Given the description of an element on the screen output the (x, y) to click on. 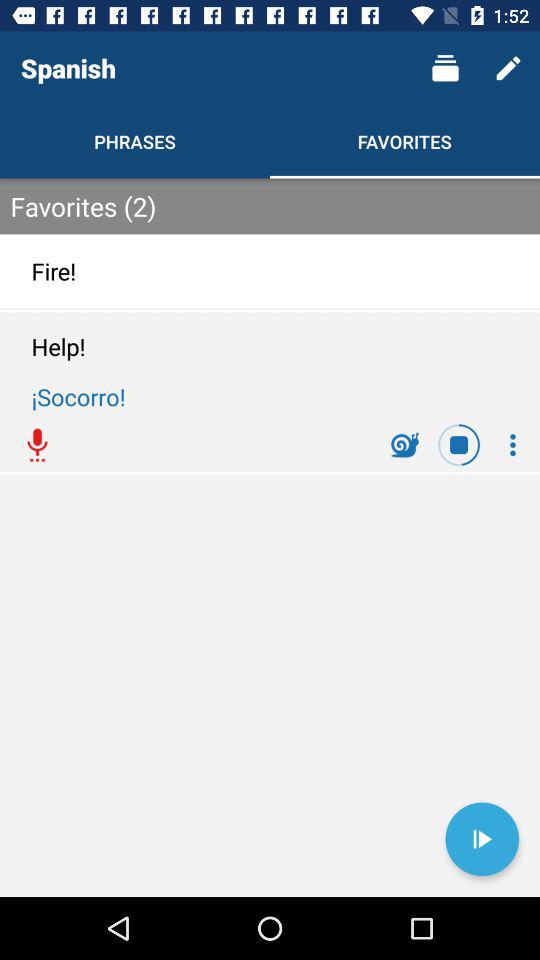
turn off the item next to spanish item (444, 67)
